Given the description of an element on the screen output the (x, y) to click on. 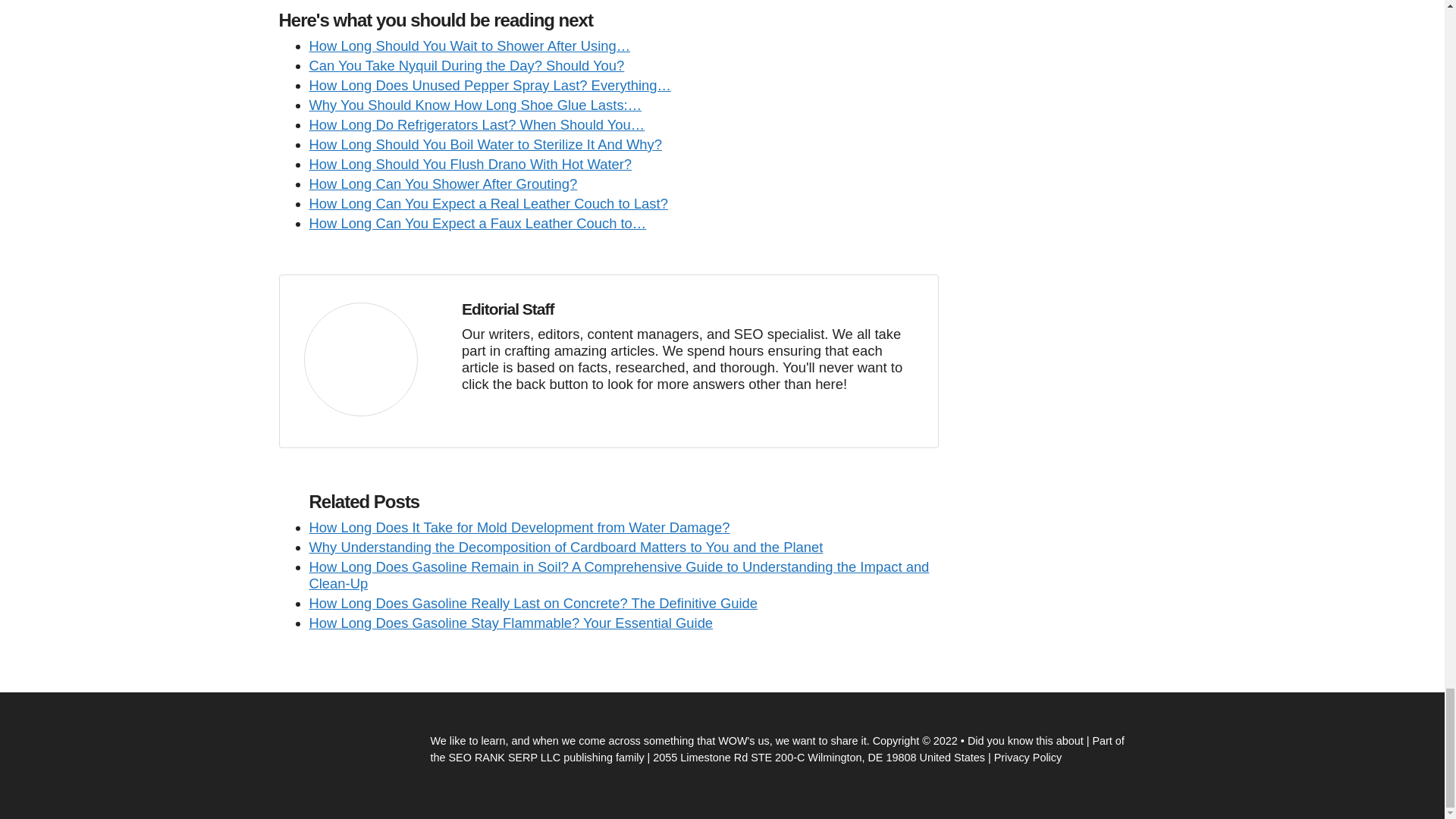
logo (359, 359)
Can You Take Nyquil During the Day? Should You? (466, 65)
